Given the description of an element on the screen output the (x, y) to click on. 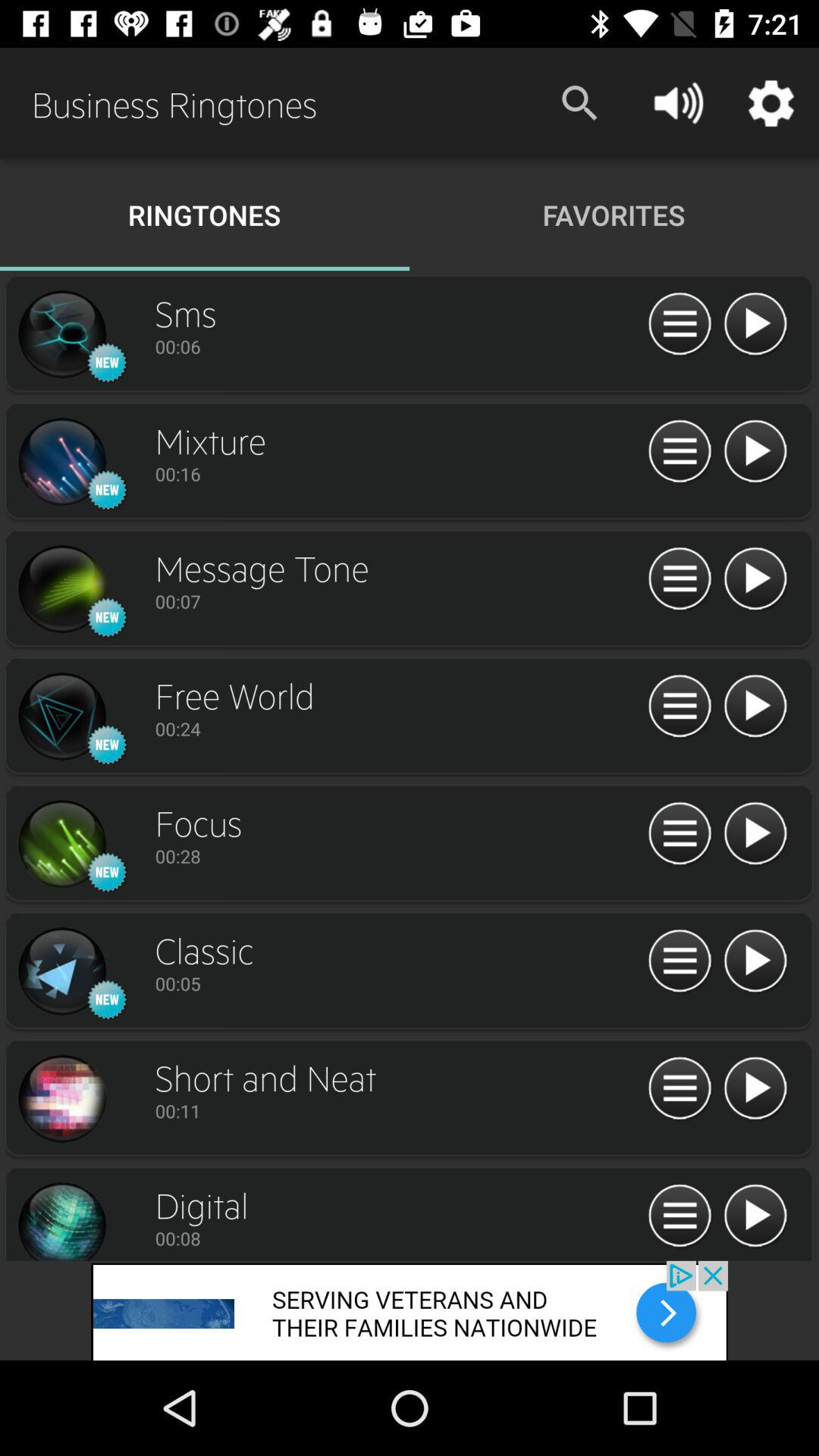
play ringtone (61, 1099)
